Given the description of an element on the screen output the (x, y) to click on. 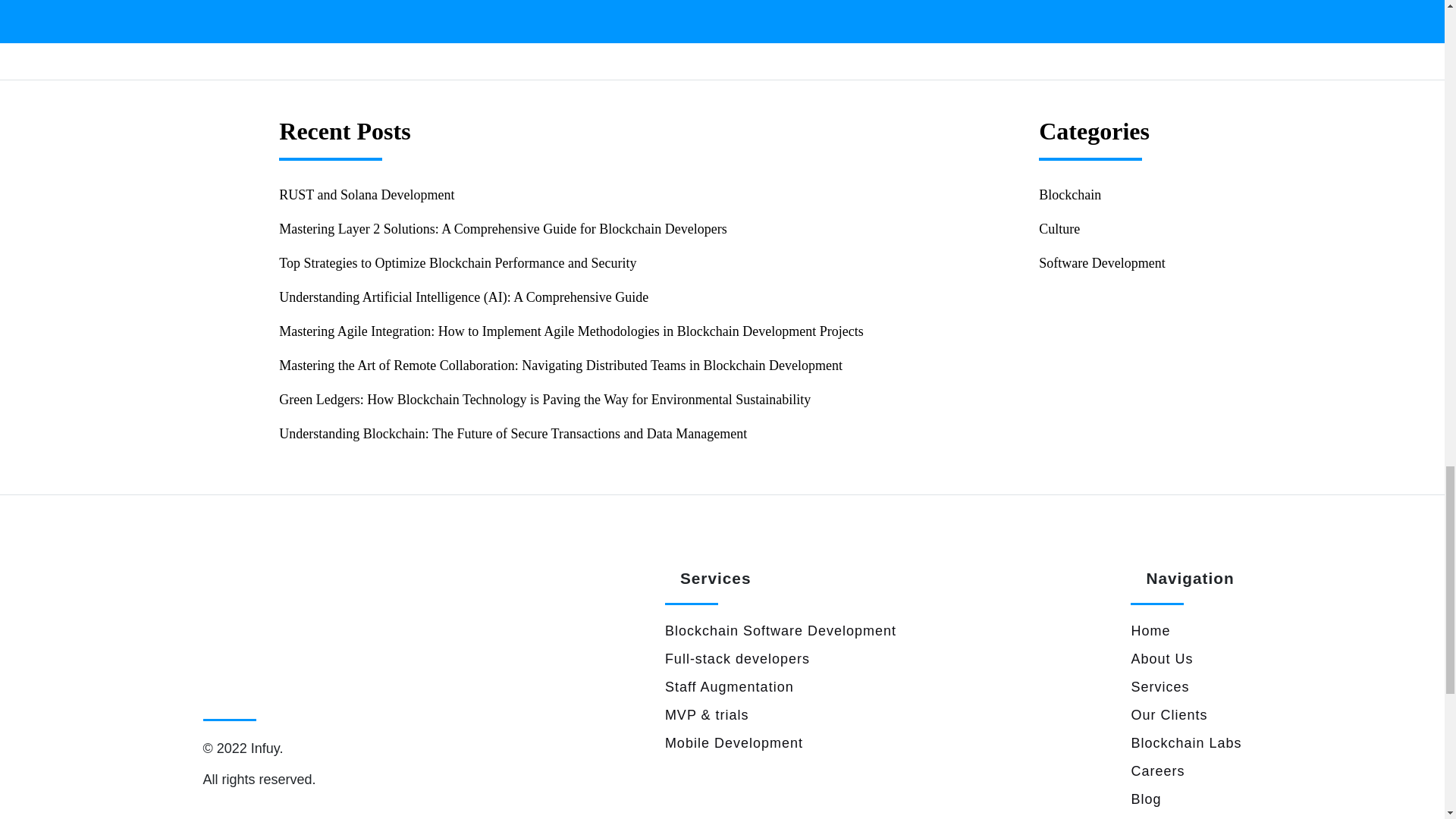
RUST and Solana Development (366, 194)
Mobile Development (734, 743)
Software Development (1101, 263)
Full-stack developers (737, 658)
Blockchain (1069, 194)
Culture (1059, 228)
Home (1150, 630)
